Given the description of an element on the screen output the (x, y) to click on. 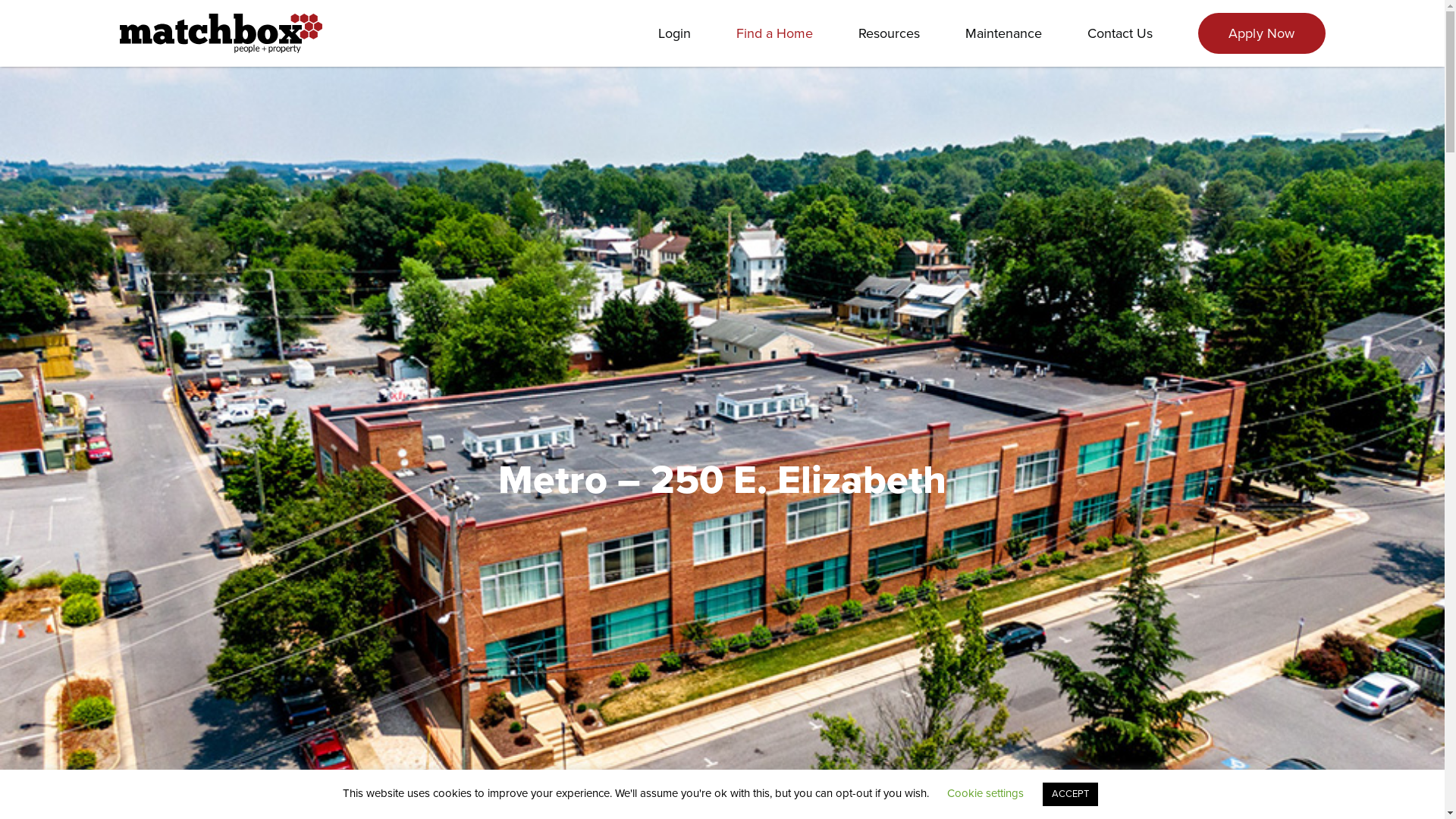
ACCEPT Element type: text (1070, 794)
Maintenance Element type: text (1003, 33)
Find a Home Element type: text (774, 33)
Login Element type: text (674, 33)
Resources Element type: text (888, 33)
Cookie settings Element type: text (985, 793)
Contact Us Element type: text (1119, 33)
Apply Now Element type: text (1261, 32)
